Given the description of an element on the screen output the (x, y) to click on. 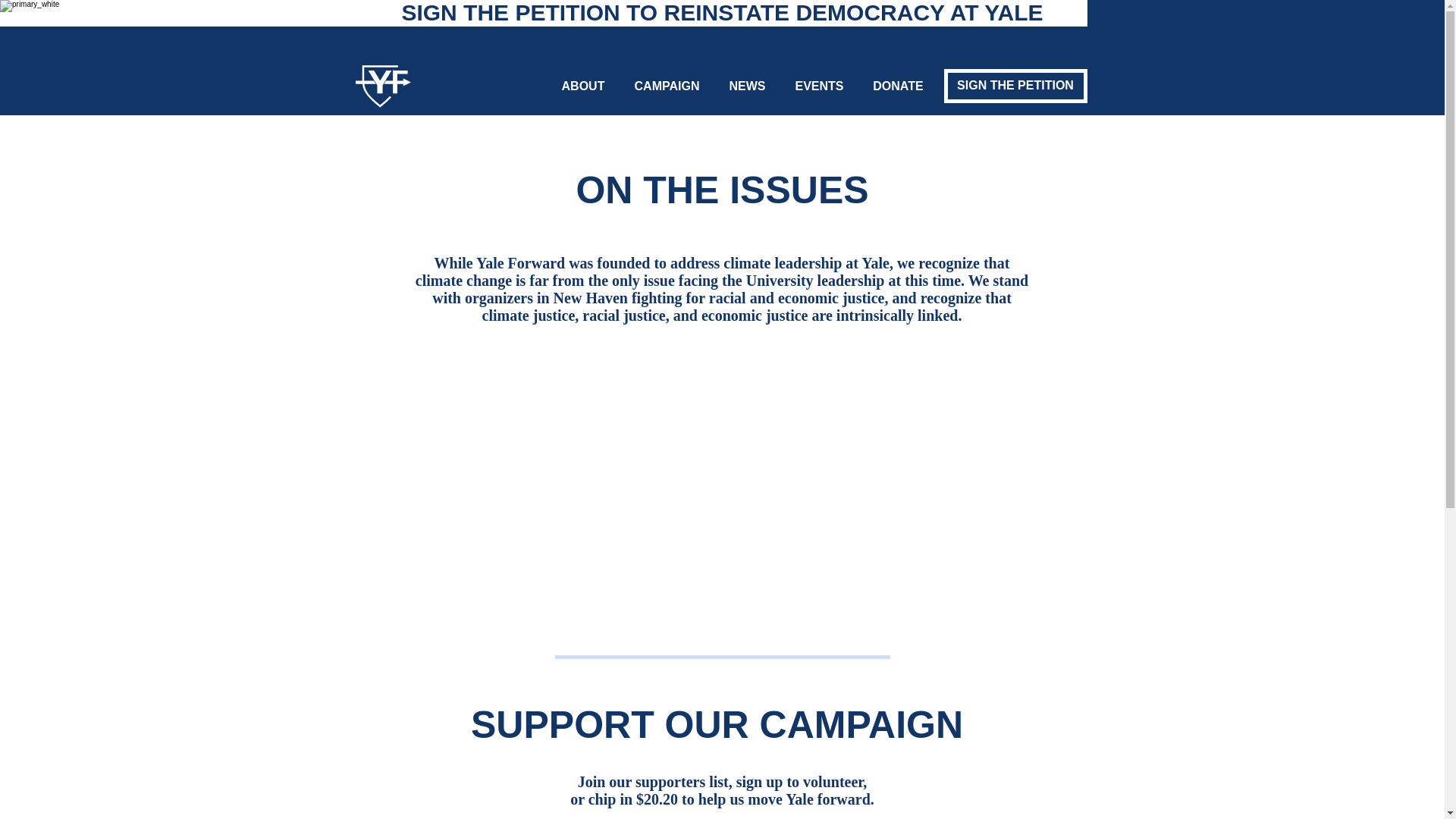
SIGN THE PETITION TO REINSTATE DEMOCRACY AT YALE (721, 12)
SIGN THE PETITION (1014, 85)
NEWS (747, 86)
EVENTS (817, 86)
DONATE (898, 86)
